Given the description of an element on the screen output the (x, y) to click on. 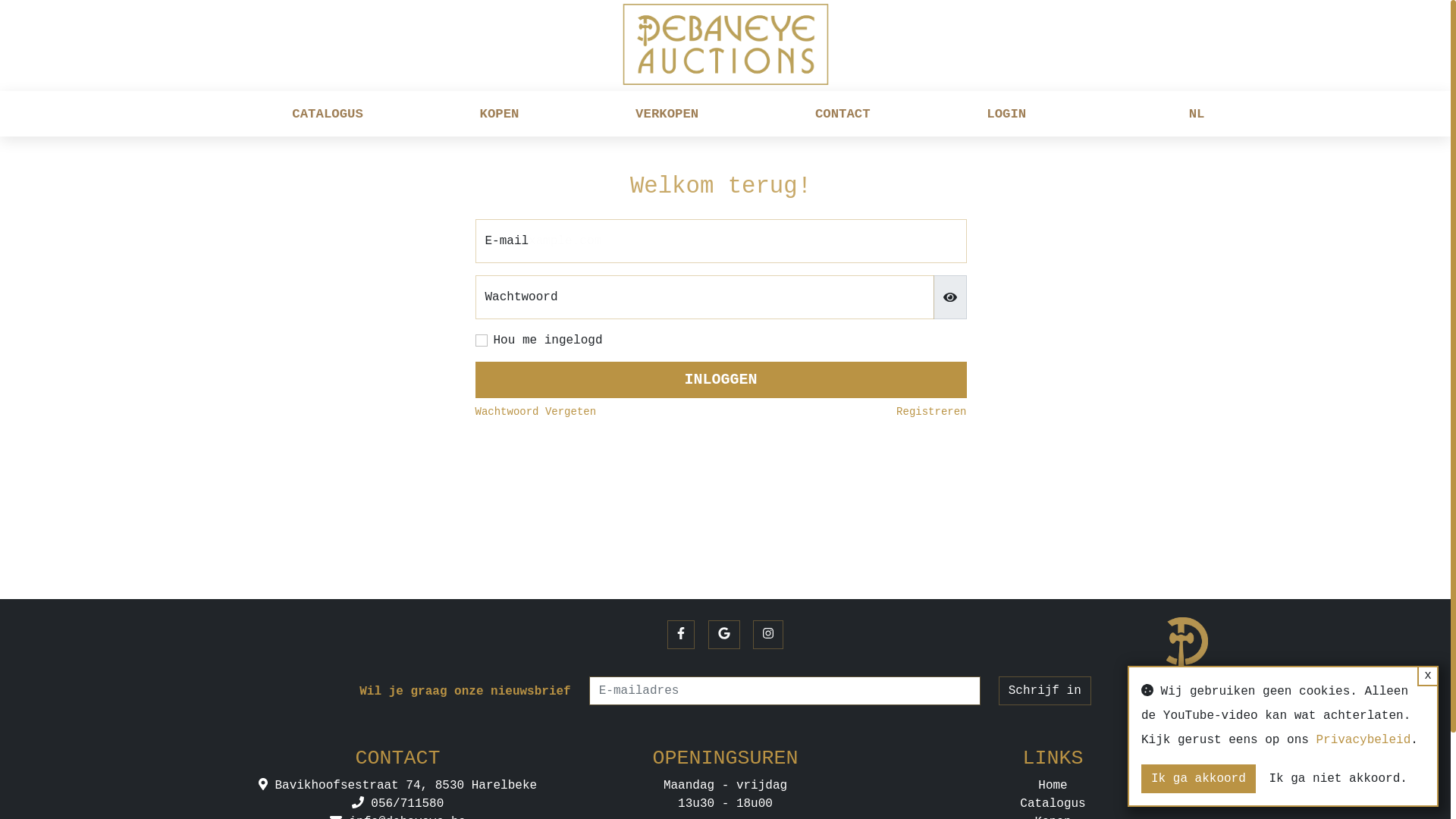
056/711580 Element type: text (397, 803)
Wachtwoord Vergeten Element type: text (535, 412)
Google Element type: text (724, 634)
Catalogus Element type: text (1052, 803)
Schrijf in Element type: text (1044, 690)
Instagram Element type: text (768, 634)
Privacybeleid Element type: text (1362, 739)
NL Element type: text (1196, 114)
Registreren Element type: text (931, 412)
CONTACT Element type: text (842, 114)
Bavikhoofsestraat 74, 8530 Harelbeke Element type: text (397, 785)
Facebook Element type: text (680, 634)
CATALOGUS Element type: text (326, 114)
KOPEN Element type: text (499, 114)
INLOGGEN Element type: text (720, 379)
VERKOPEN Element type: text (666, 114)
Maandag - vrijdag
13u30 - 18u00 Element type: text (724, 794)
Home Element type: text (1052, 785)
LOGIN Element type: text (1006, 114)
